Given the description of an element on the screen output the (x, y) to click on. 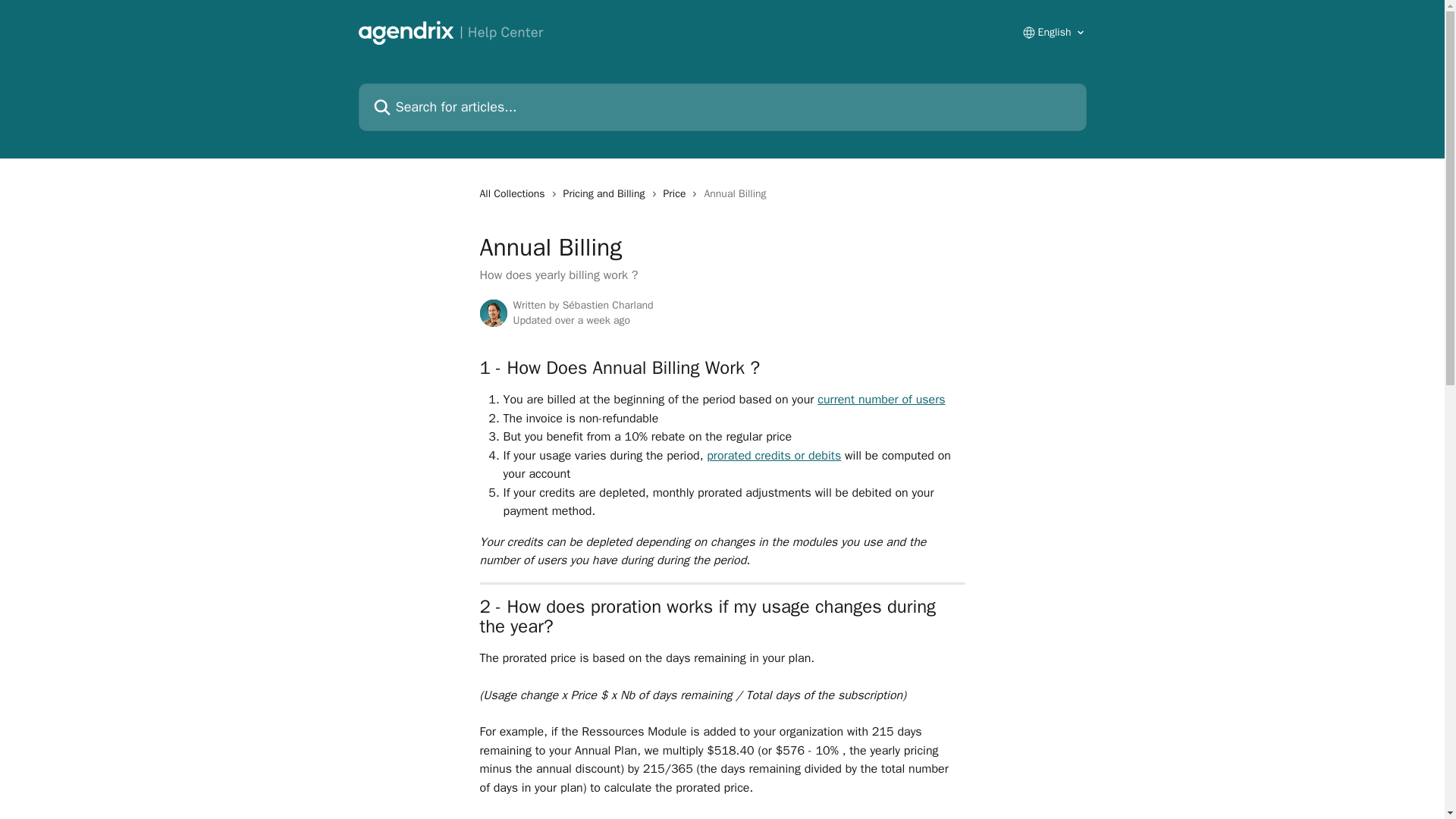
current number of users (880, 399)
Price (678, 193)
Pricing and Billing (606, 193)
prorated credits or debits (773, 455)
All Collections (514, 193)
